Given the description of an element on the screen output the (x, y) to click on. 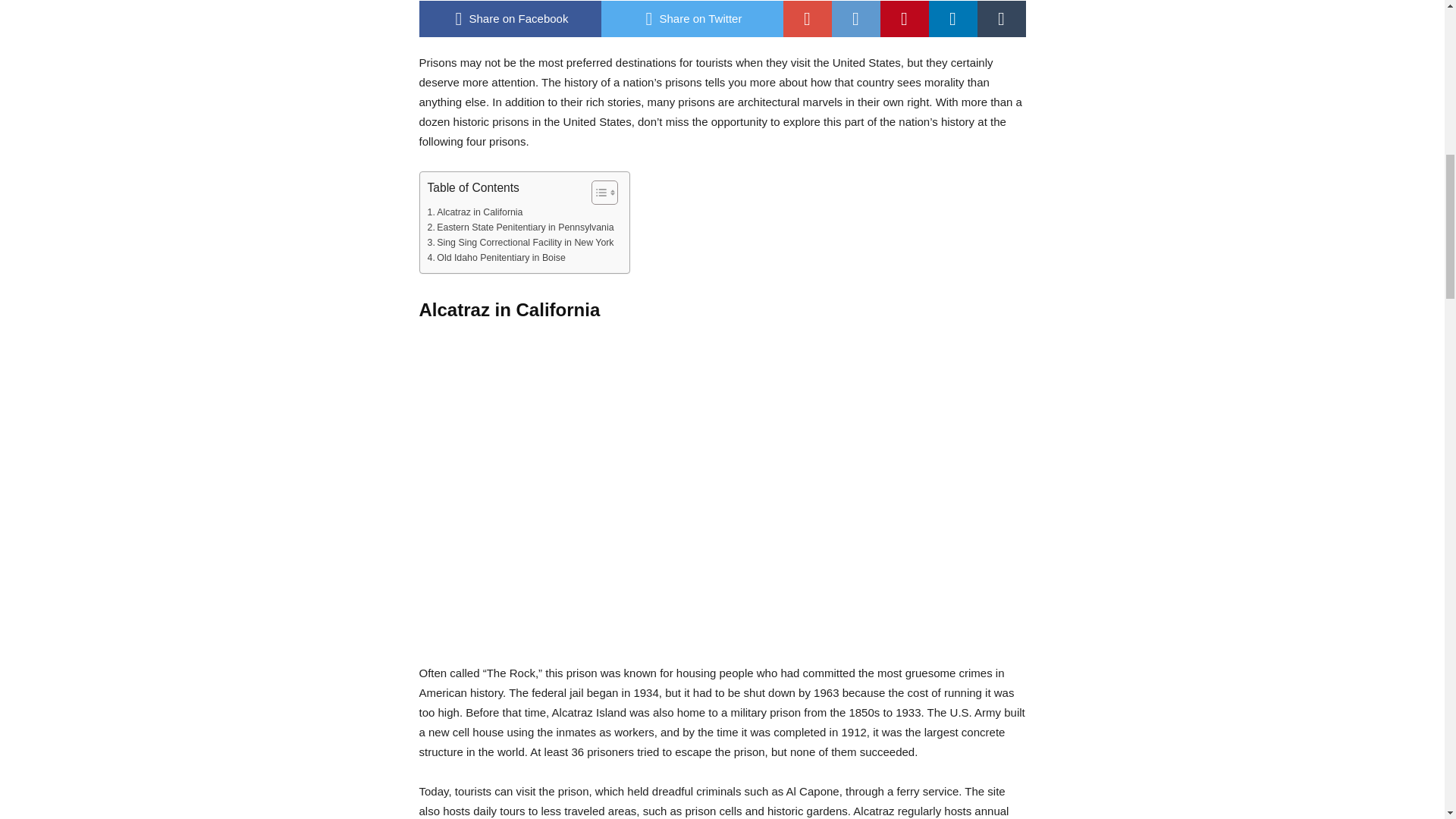
twitter (691, 18)
google (807, 18)
facebook (509, 18)
